Given the description of an element on the screen output the (x, y) to click on. 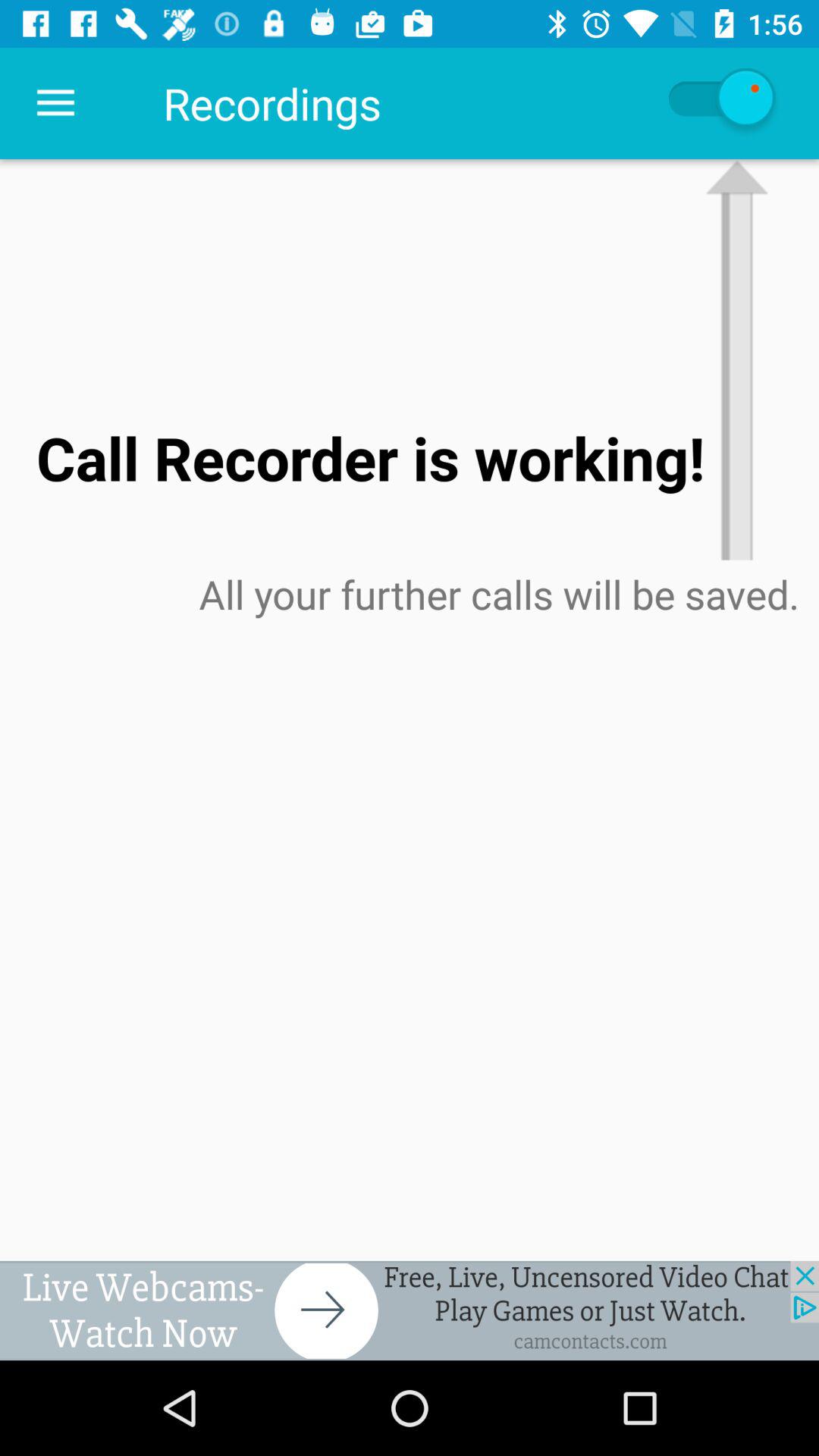
select the button show call recorder is working (719, 103)
